Given the description of an element on the screen output the (x, y) to click on. 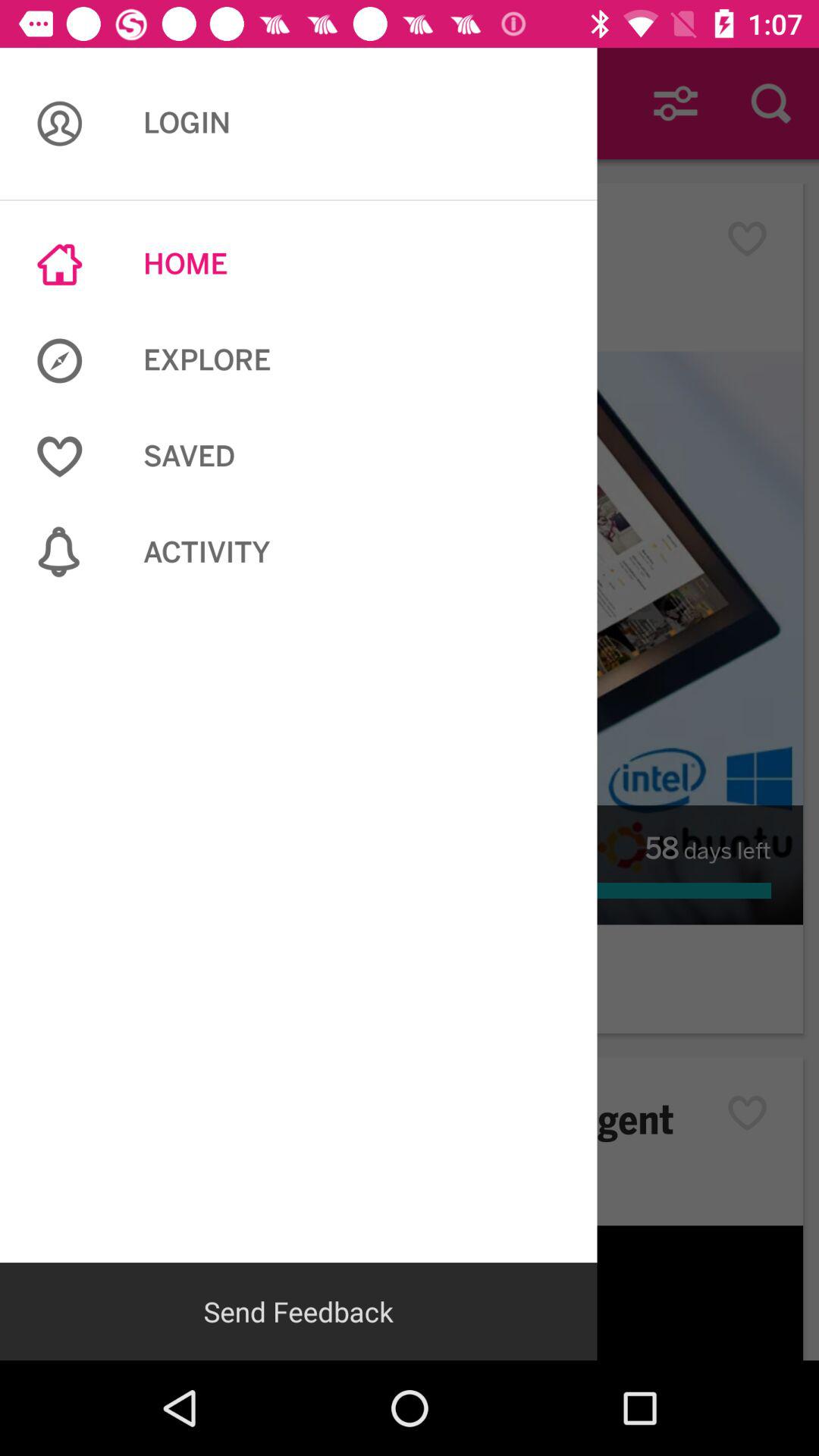
click on search icon (771, 103)
select the button which is right to the home (755, 239)
